Given the description of an element on the screen output the (x, y) to click on. 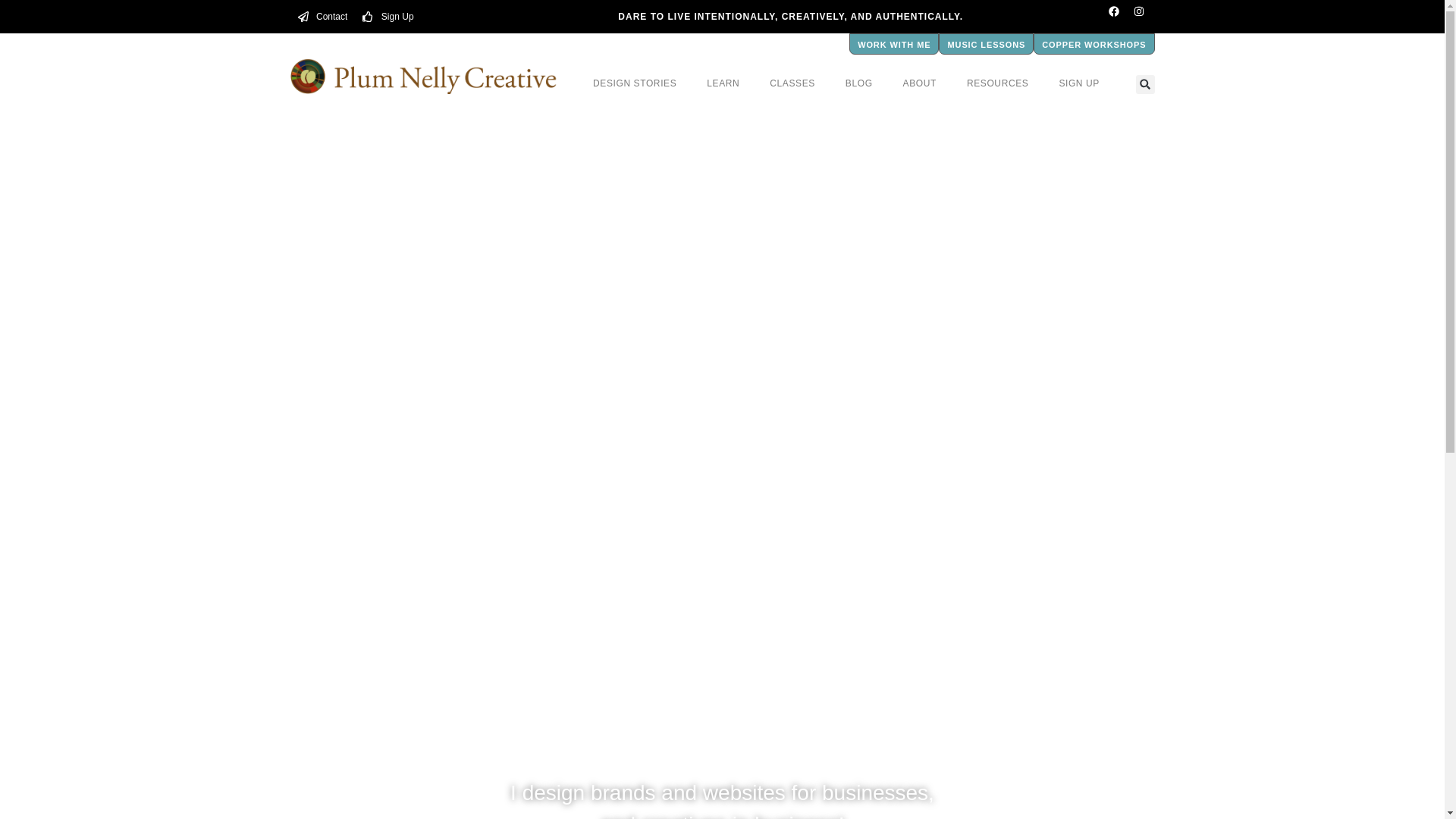
CLASSES (791, 83)
RESOURCES (997, 83)
Contact (322, 16)
COPPER WORKSHOPS (1093, 43)
MUSIC LESSONS (986, 43)
LEARN (722, 83)
Sign Up (387, 16)
DESIGN STORIES (634, 83)
WORK WITH ME (893, 43)
BLOG (858, 83)
ABOUT (920, 83)
SIGN UP (1079, 83)
